Given the description of an element on the screen output the (x, y) to click on. 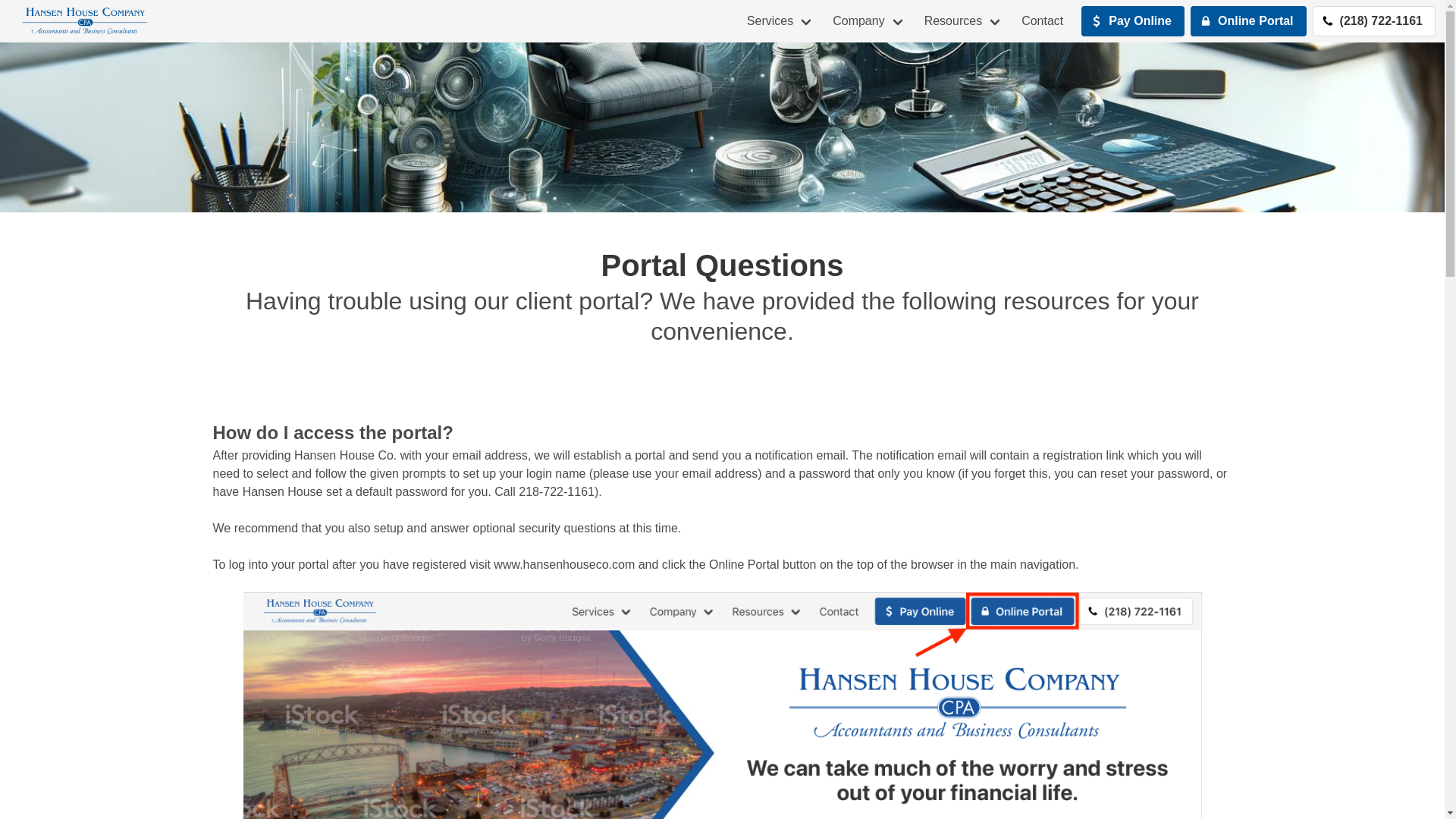
Online Portal (1248, 20)
Contact (1041, 21)
Pay Online (1133, 20)
